Given the description of an element on the screen output the (x, y) to click on. 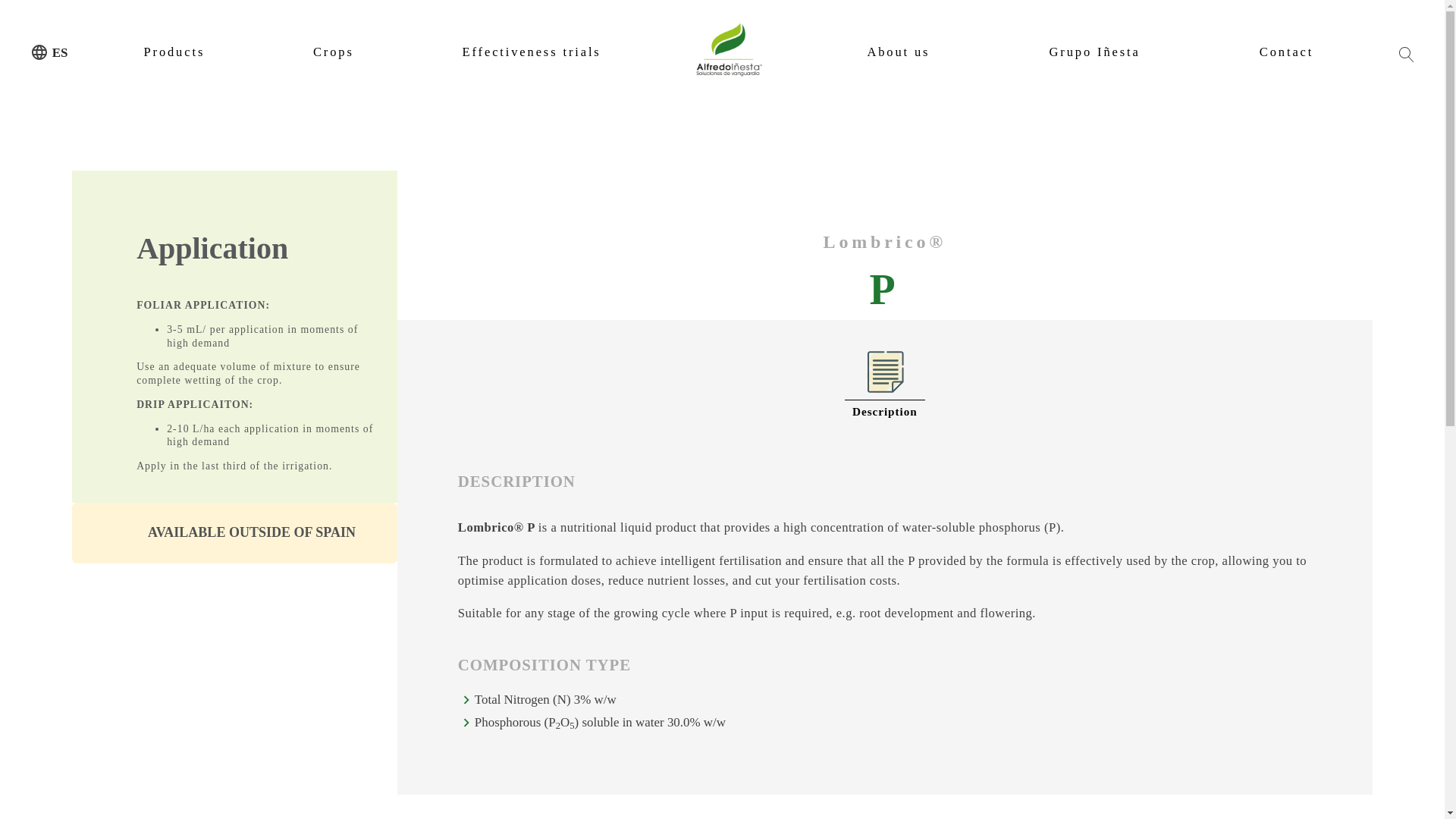
Effectiveness trials (531, 50)
Contact (1285, 50)
About us (898, 50)
